Given the description of an element on the screen output the (x, y) to click on. 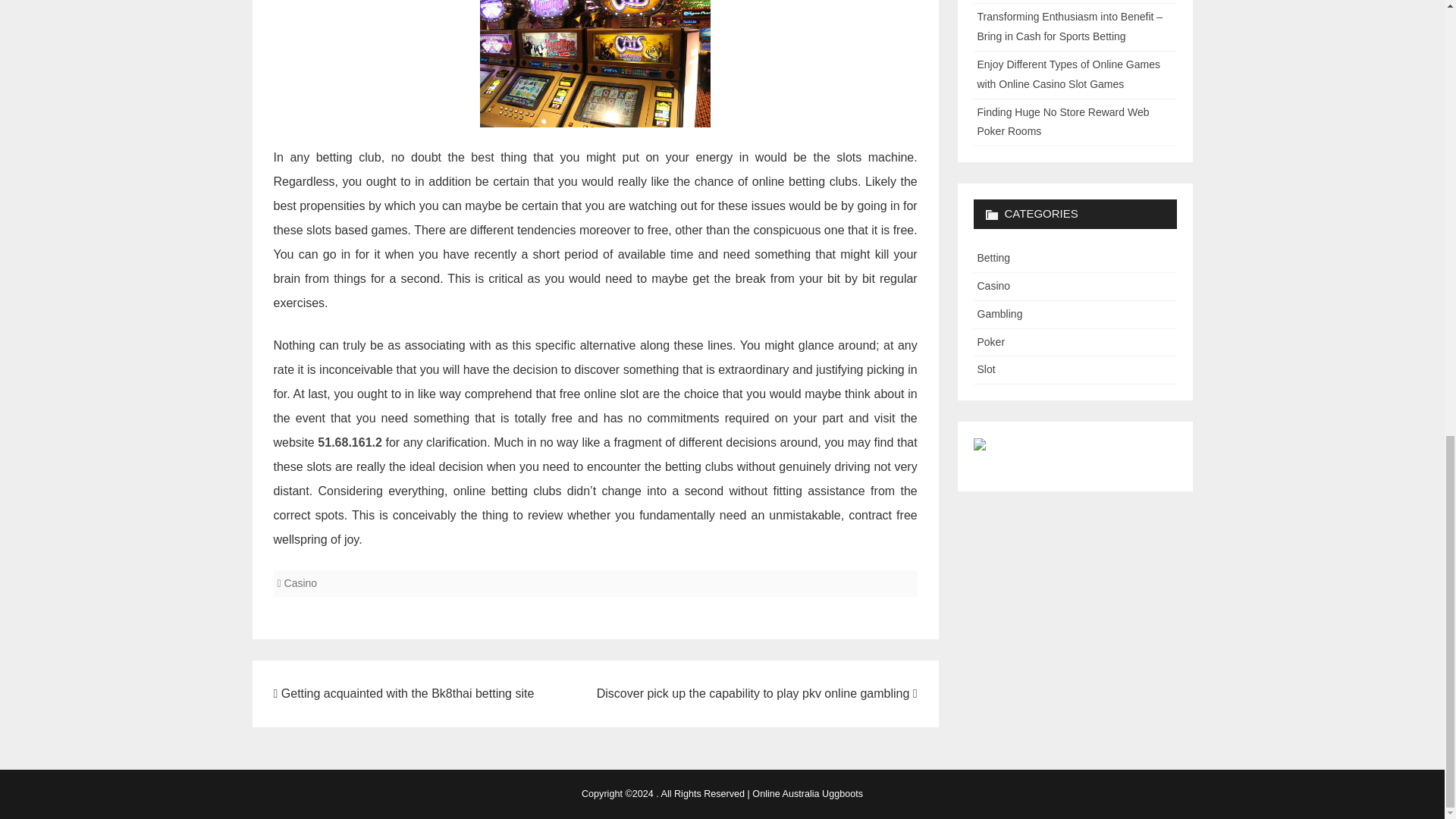
Poker (990, 341)
Casino (993, 285)
Casino (300, 582)
Getting acquainted with the Bk8thai betting site (403, 693)
Finding Huge No Store Reward Web Poker Rooms (1062, 122)
51.68.161.2 (349, 441)
Discover pick up the capability to play pkv online gambling (756, 693)
Slot (985, 369)
Gambling (999, 313)
Betting (993, 257)
